Given the description of an element on the screen output the (x, y) to click on. 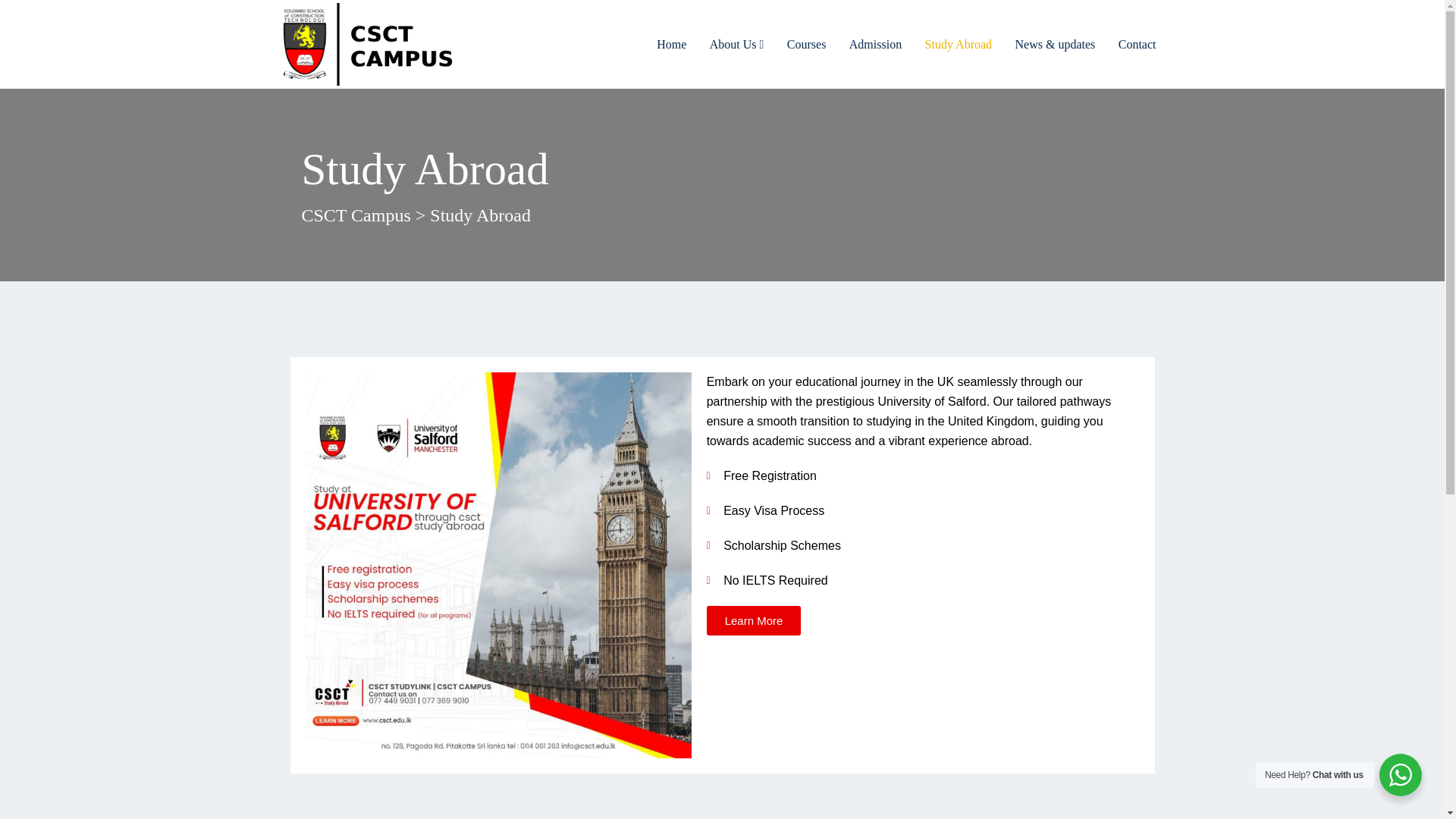
CSCT Campus (355, 215)
Study Abroad (957, 44)
Admission (875, 44)
Study Abroad (957, 44)
Contact (1136, 44)
Courses (806, 44)
Go to CSCT Campus. (355, 215)
Admission (875, 44)
About Us (736, 44)
Contact (1136, 44)
